Given the description of an element on the screen output the (x, y) to click on. 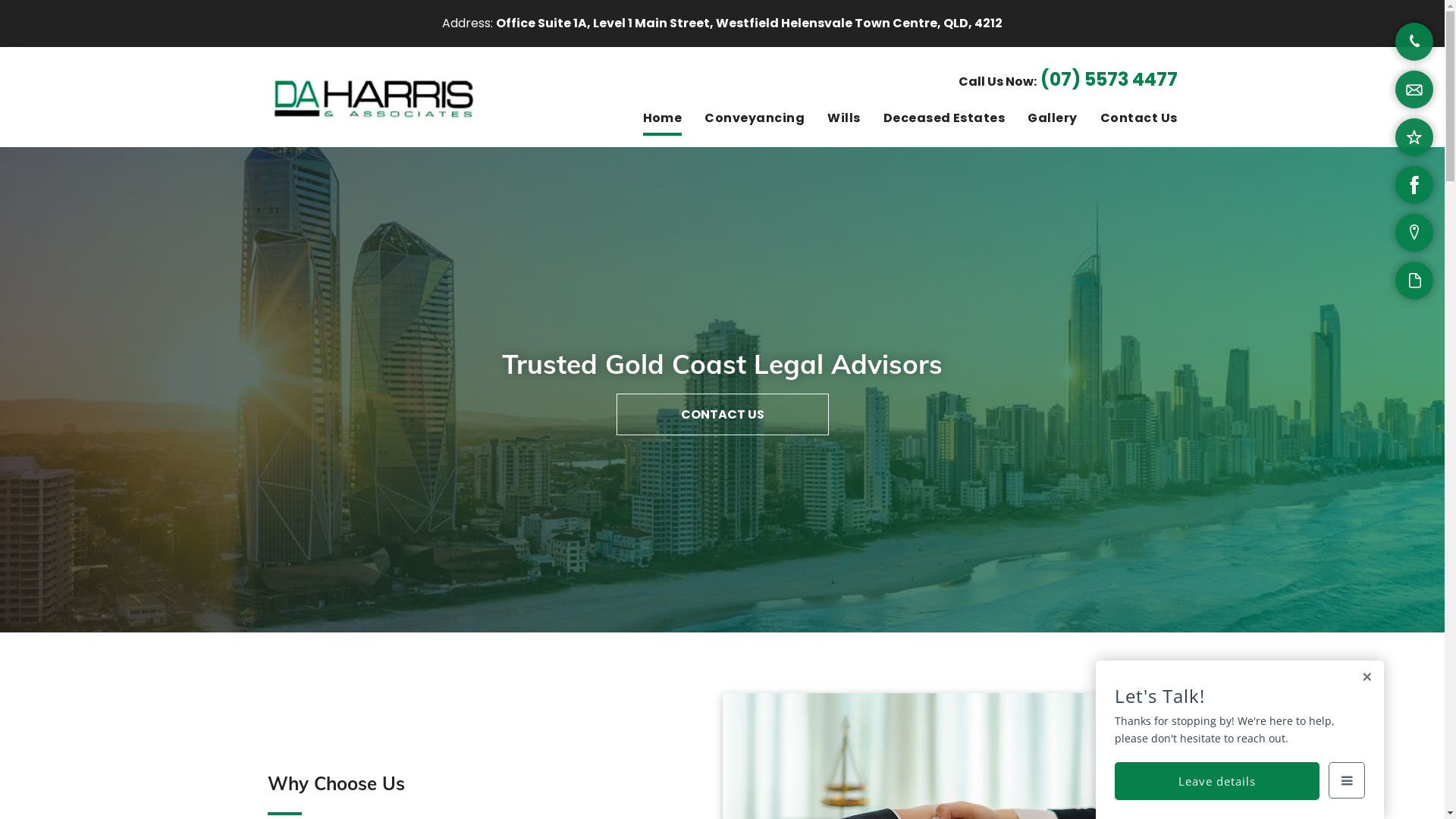
Home Element type: text (651, 118)
Contact Us Element type: text (1127, 118)
Gallery Element type: text (1040, 118)
Deceased Estates Element type: text (932, 118)
Wills Element type: text (831, 118)
(07) 5573 4477 Element type: text (1108, 78)
CONTACT US Element type: text (721, 414)
D A Harris & Associates Element type: hover (373, 96)
Leave details Element type: text (1216, 781)
Conveyancing Element type: text (742, 118)
